Given the description of an element on the screen output the (x, y) to click on. 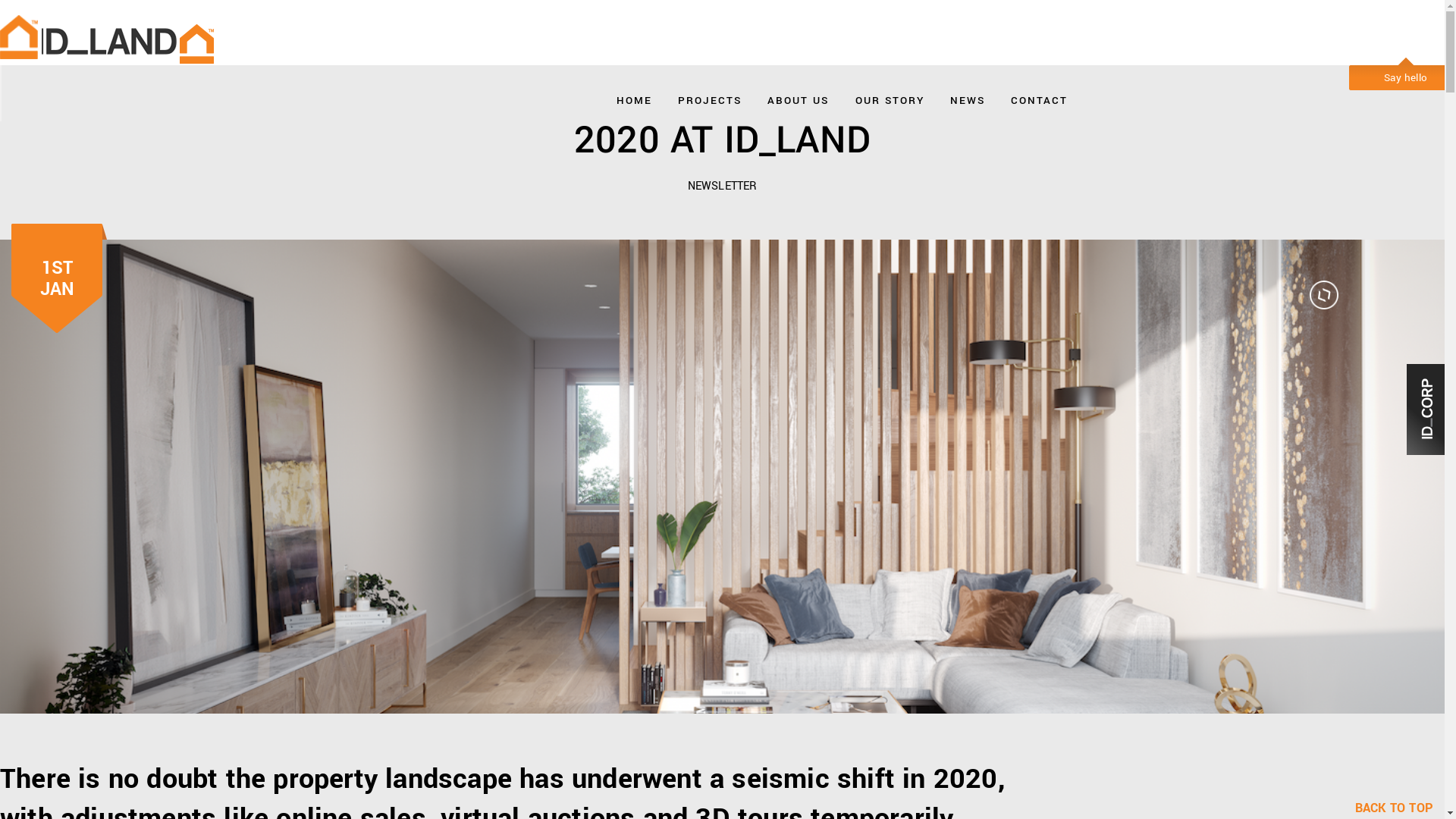
PROJECTS Element type: text (709, 96)
NEWS Element type: text (967, 96)
BACK TO TOP Element type: text (1399, 807)
CONTACT Element type: text (1038, 96)
ABOUT US Element type: text (797, 96)
HOME Element type: text (634, 96)
OUR STORY Element type: text (889, 96)
